Given the description of an element on the screen output the (x, y) to click on. 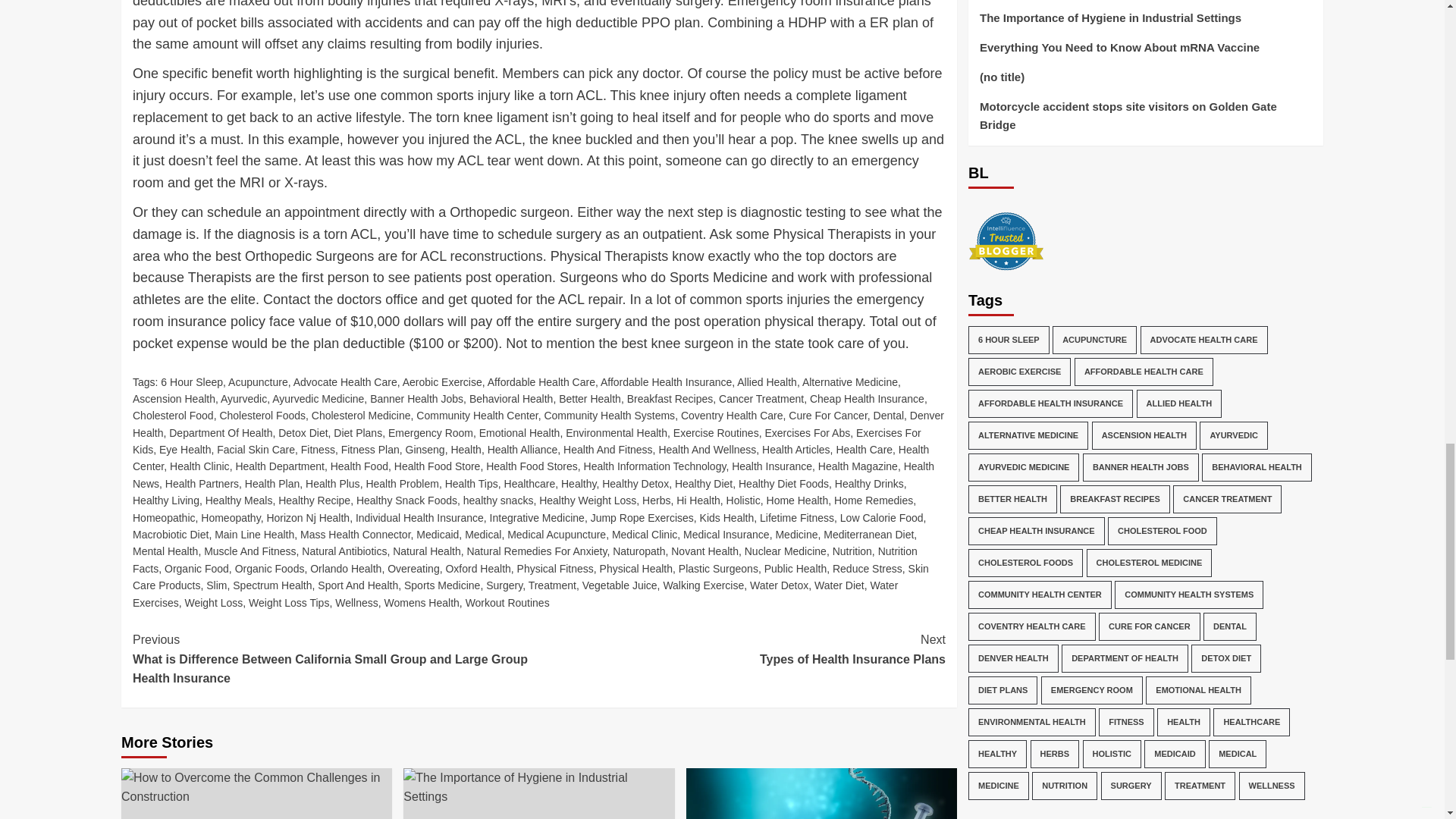
Affordable Health Care (541, 381)
Aerobic Exercise (442, 381)
Acupuncture (258, 381)
Cheap Health Insurance (866, 398)
Ayurvedic Medicine (318, 398)
Behavioral Health (510, 398)
Cancer Treatment (761, 398)
6 Hour Sleep (191, 381)
The Importance of Hygiene in Industrial Settings (538, 787)
Banner Health Jobs (416, 398)
